Given the description of an element on the screen output the (x, y) to click on. 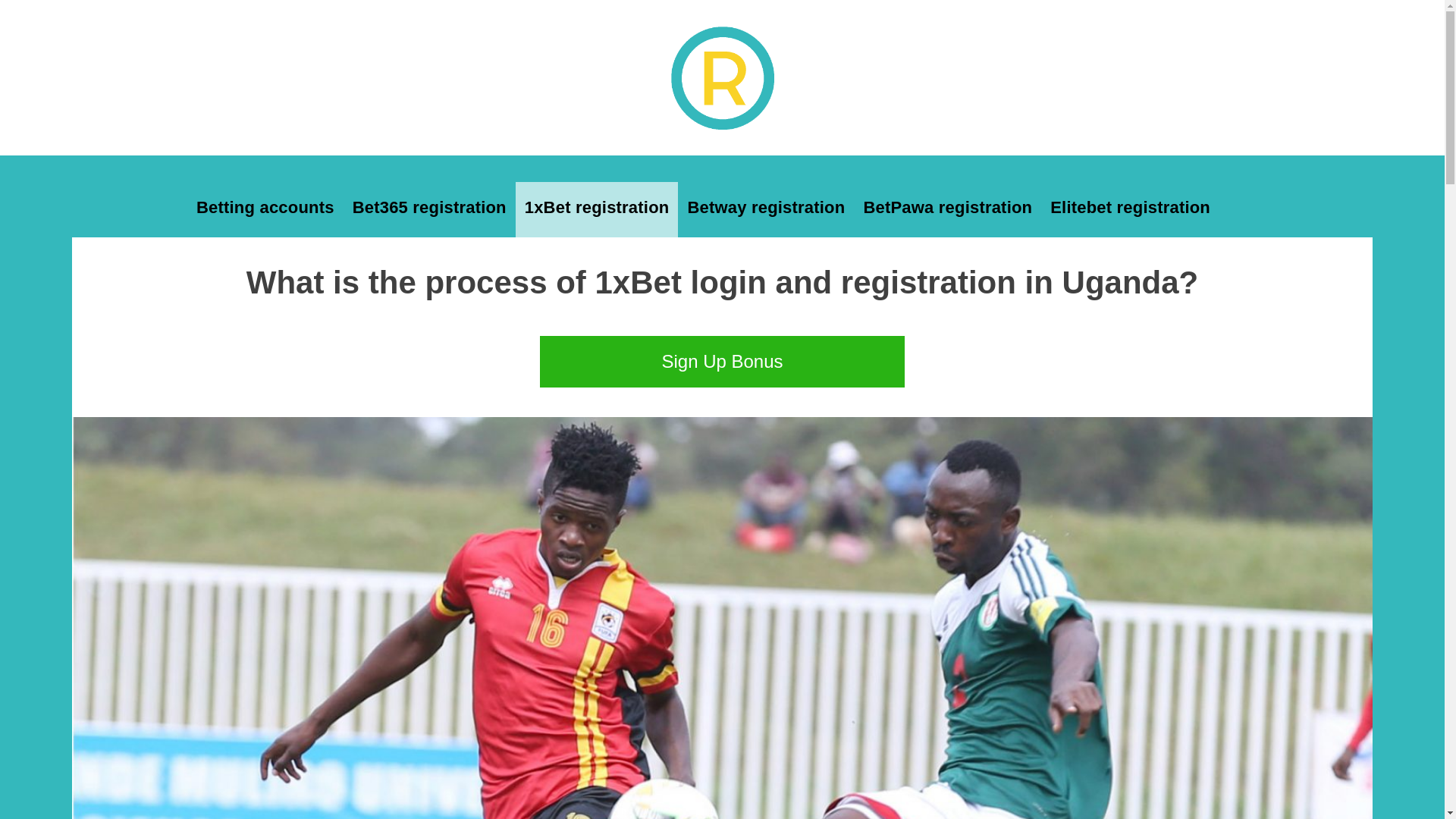
Betting accounts (265, 207)
1xBet registration (596, 207)
Bet365 registration (429, 207)
Sign Up Bonus (722, 361)
Elitebet registration (1130, 207)
Betway registration (765, 207)
BetPawa registration (947, 207)
